Given the description of an element on the screen output the (x, y) to click on. 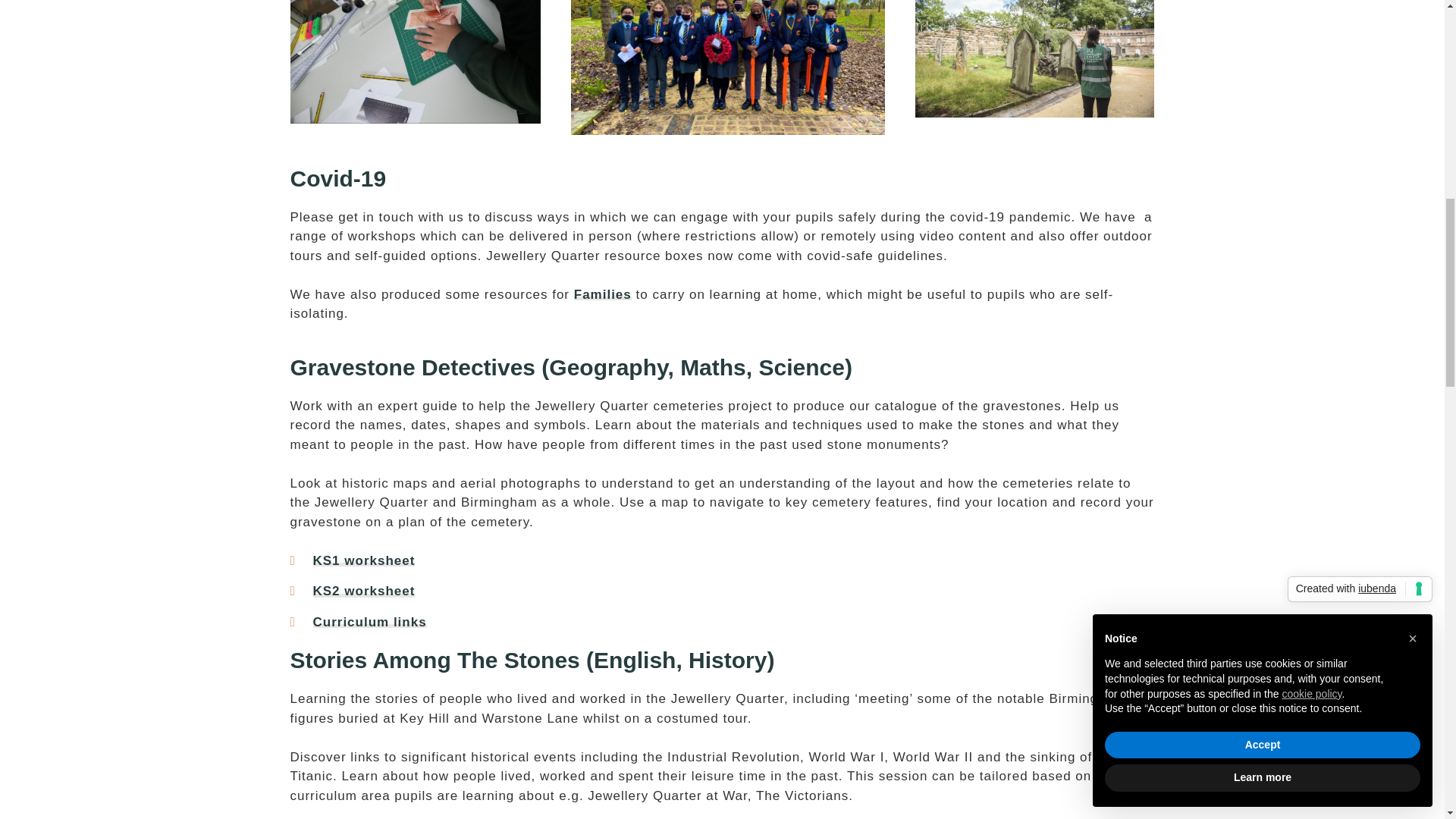
jqa war memorial (727, 67)
